Given the description of an element on the screen output the (x, y) to click on. 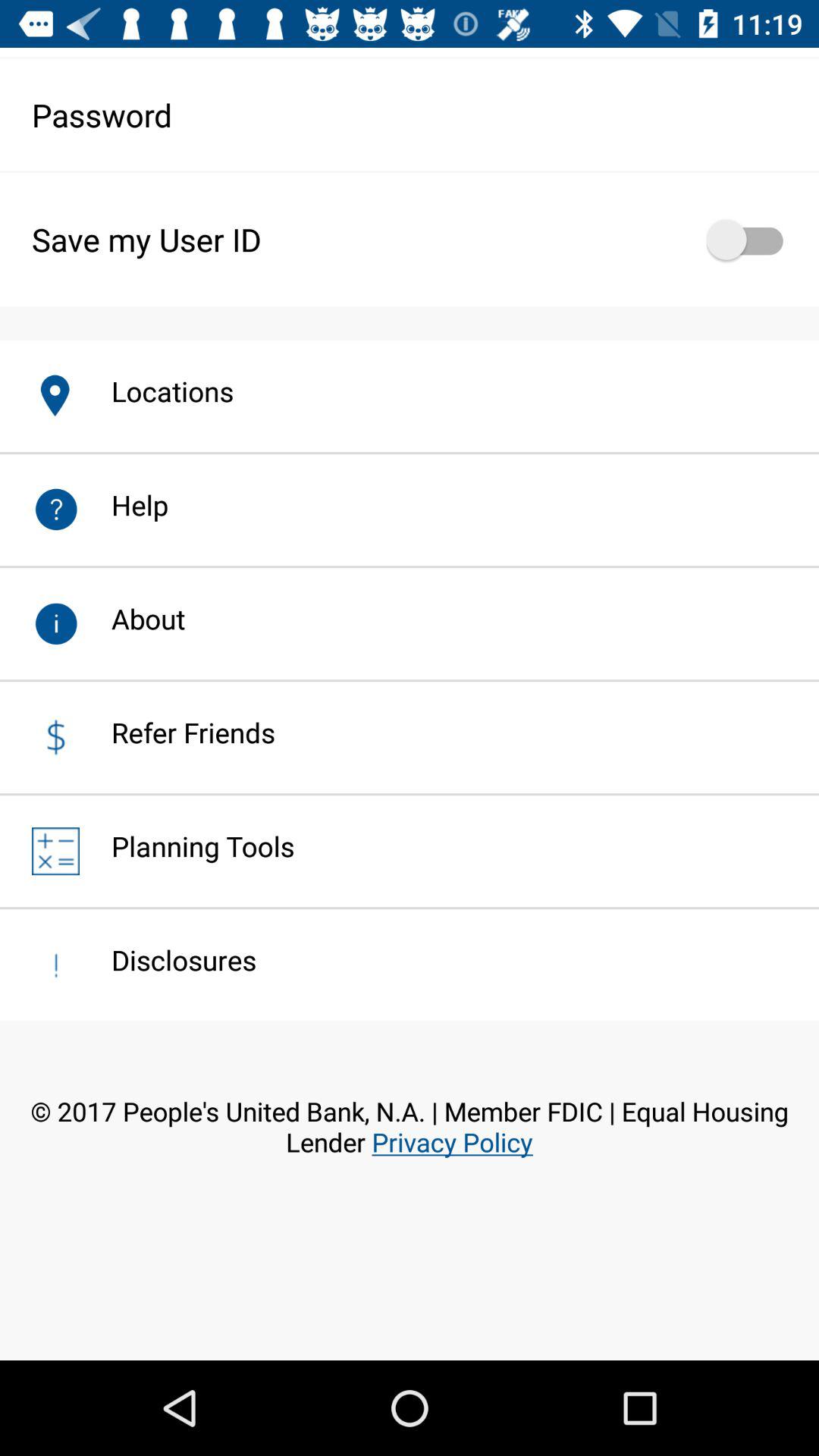
flip to locations item (156, 391)
